Given the description of an element on the screen output the (x, y) to click on. 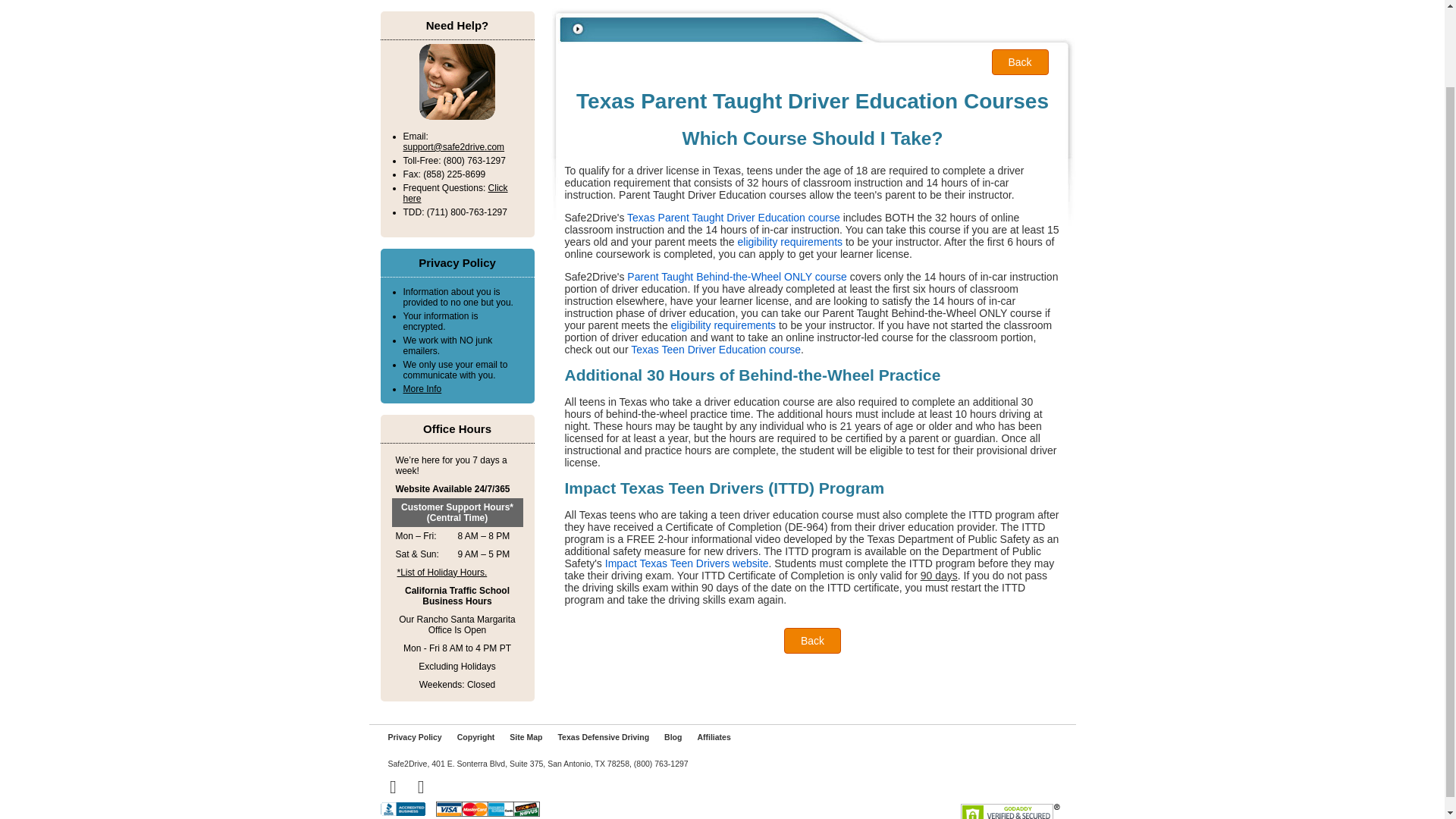
customer support (456, 174)
Privacy Policy (456, 339)
Safe2Drive Facebook (393, 789)
footer links (559, 736)
Safe2Drive Twitter (420, 789)
